Given the description of an element on the screen output the (x, y) to click on. 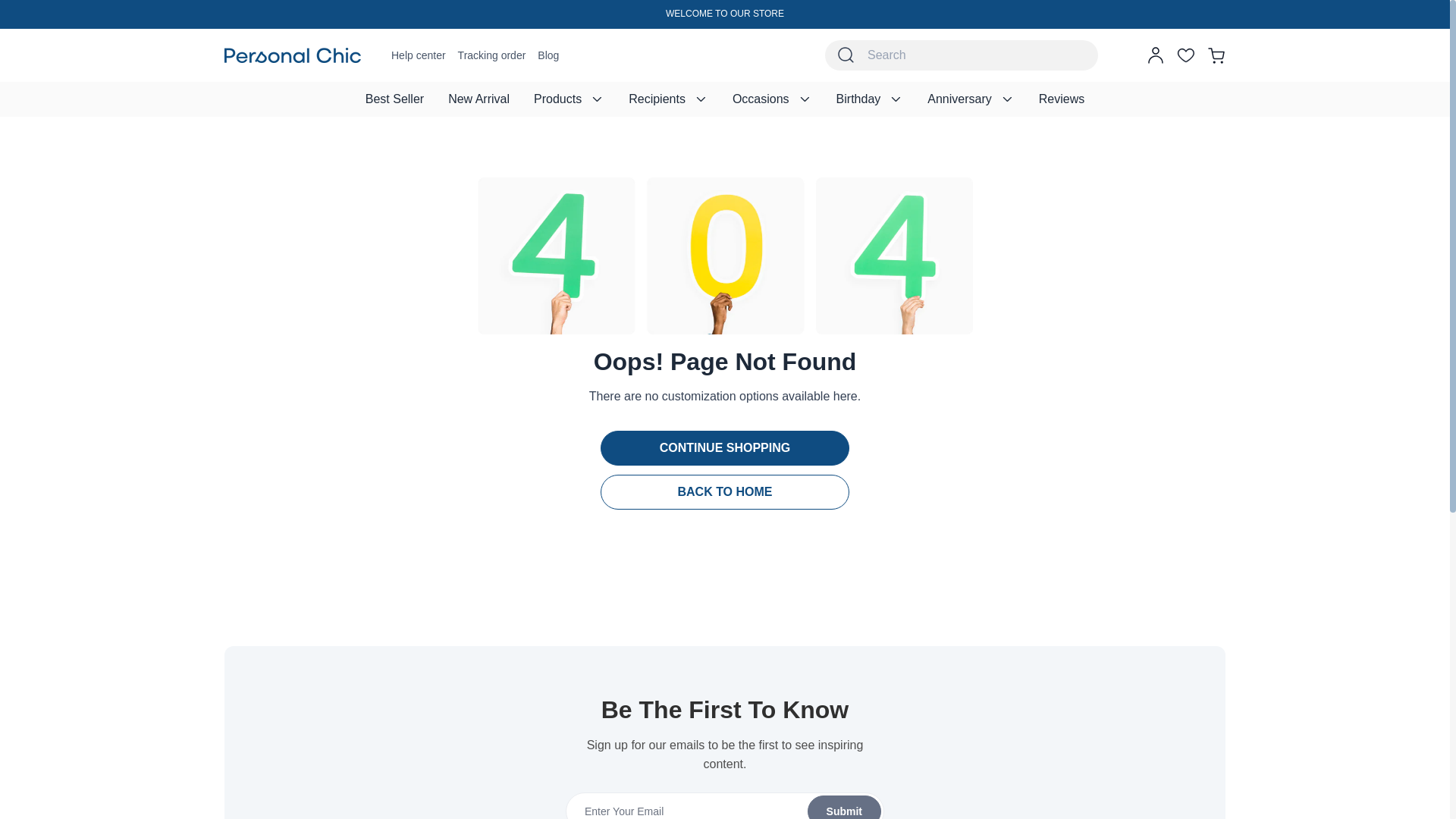
account (1155, 54)
Submit (723, 805)
cart (1216, 54)
Personal Chic (292, 55)
New Arrivals (478, 99)
Bestsellers (394, 99)
Recipients (667, 99)
Products (568, 99)
Best Seller (394, 99)
wishlist (1185, 54)
